Given the description of an element on the screen output the (x, y) to click on. 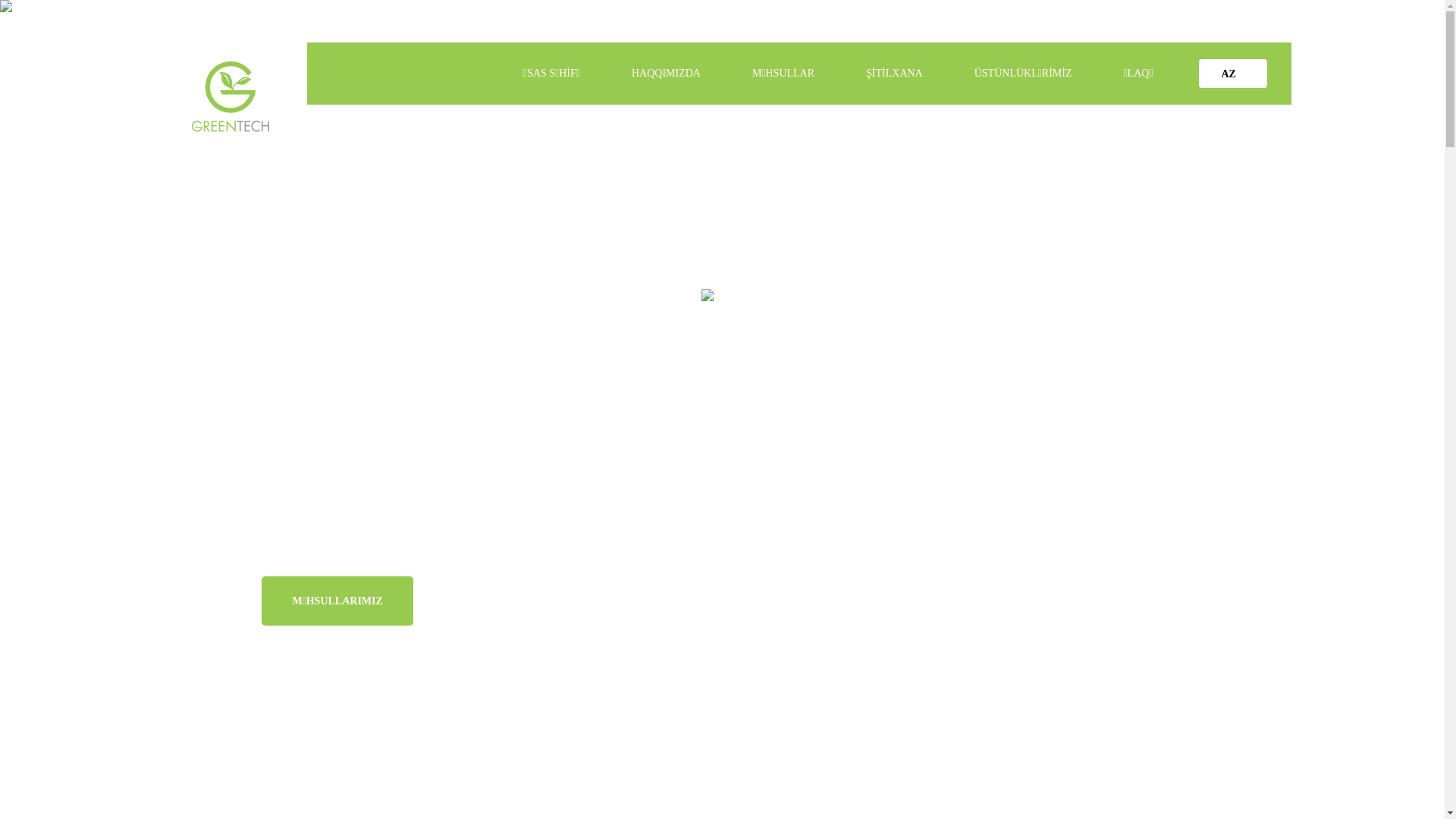
HAQQIMIZDA Element type: text (665, 73)
